Given the description of an element on the screen output the (x, y) to click on. 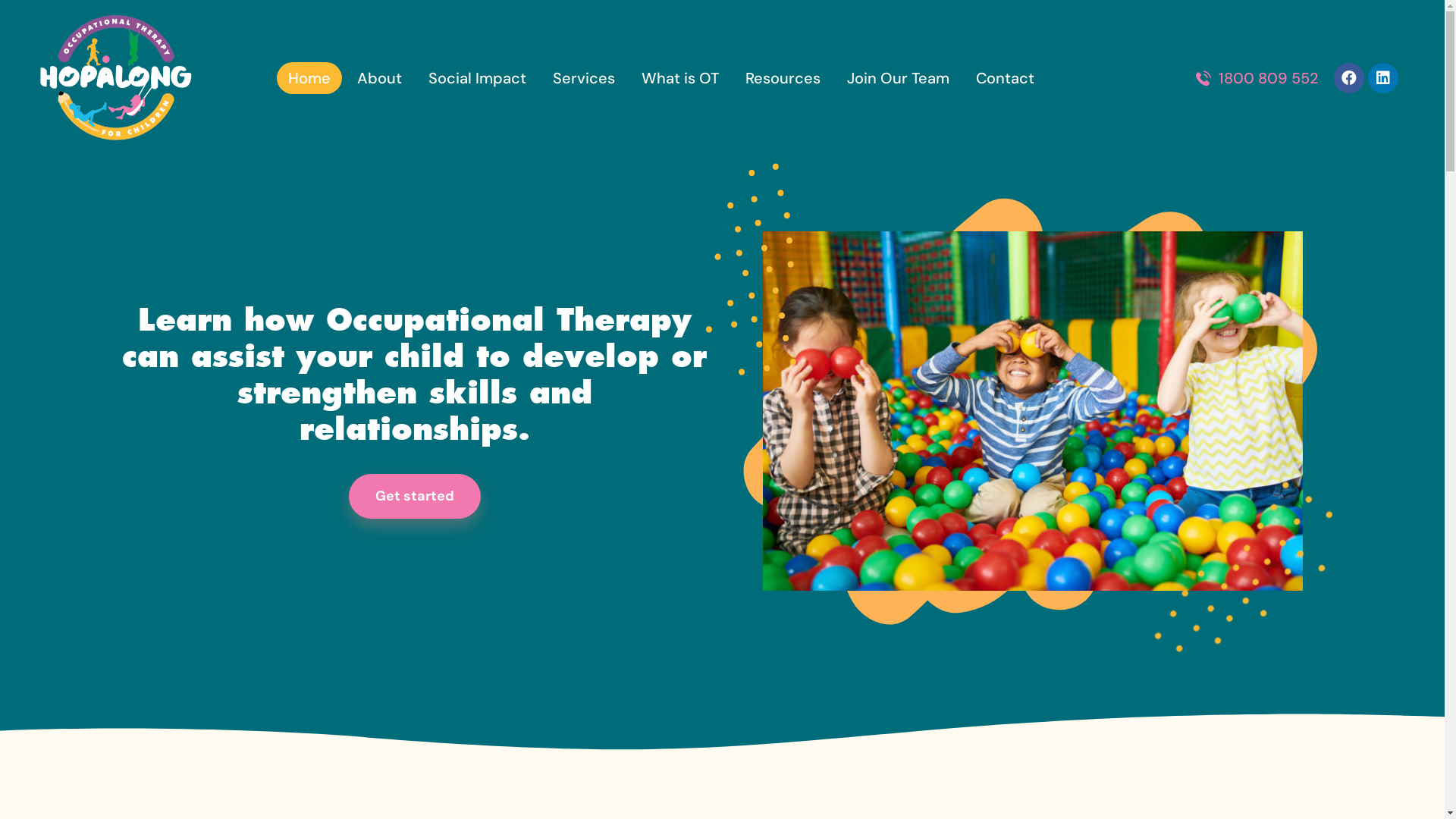
Social Impact Element type: text (477, 78)
Services Element type: text (583, 78)
Join Our Team Element type: text (897, 78)
About Element type: text (379, 78)
Hopalong Element type: hover (115, 77)
Home Element type: text (309, 78)
Resources Element type: text (782, 78)
Contact Element type: text (1004, 78)
1800 809 552 Element type: text (1256, 77)
Get started Element type: text (414, 495)
What is OT Element type: text (680, 78)
